Given the description of an element on the screen output the (x, y) to click on. 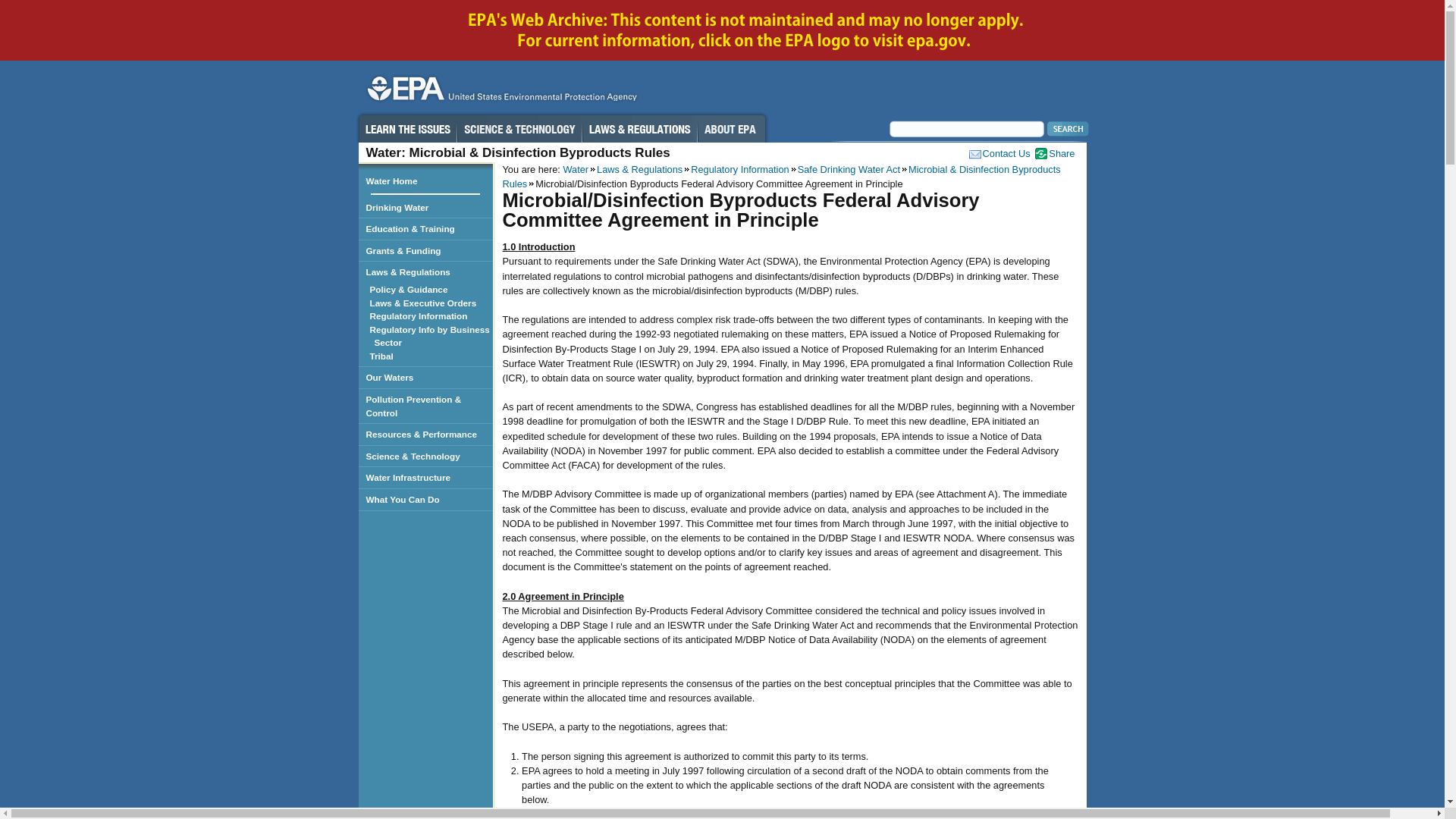
About EPA (731, 128)
Science and Technology (518, 128)
Laws and Regulations (639, 128)
US EPA Home Page (499, 91)
About EPA (731, 128)
Learn the Issues (407, 128)
Learn the Issues (407, 128)
